Given the description of an element on the screen output the (x, y) to click on. 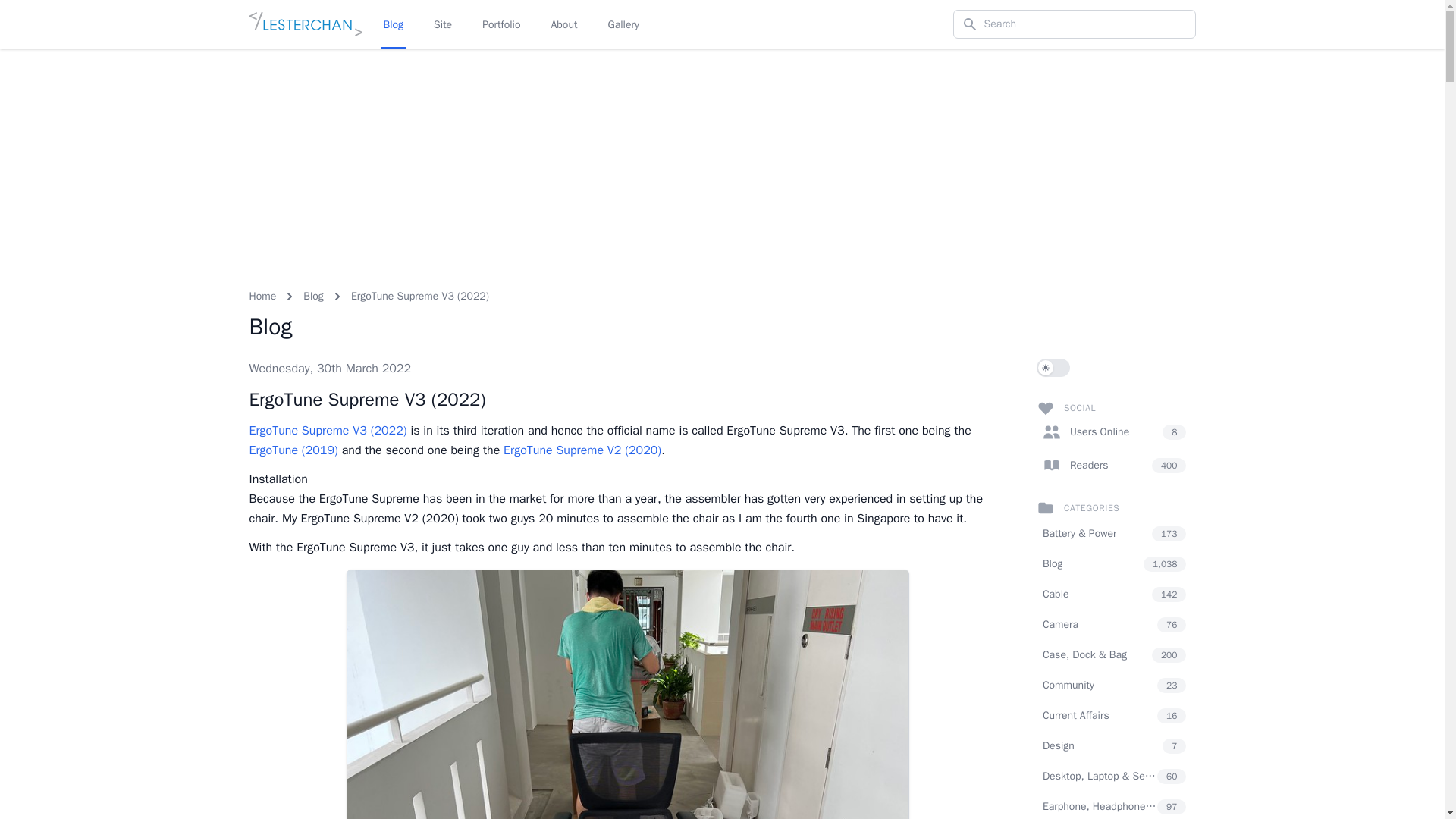
Blog (312, 296)
Blog (312, 296)
Lester Chan's Website (304, 24)
Portfolio (500, 24)
Home (262, 296)
Home (262, 296)
